Given the description of an element on the screen output the (x, y) to click on. 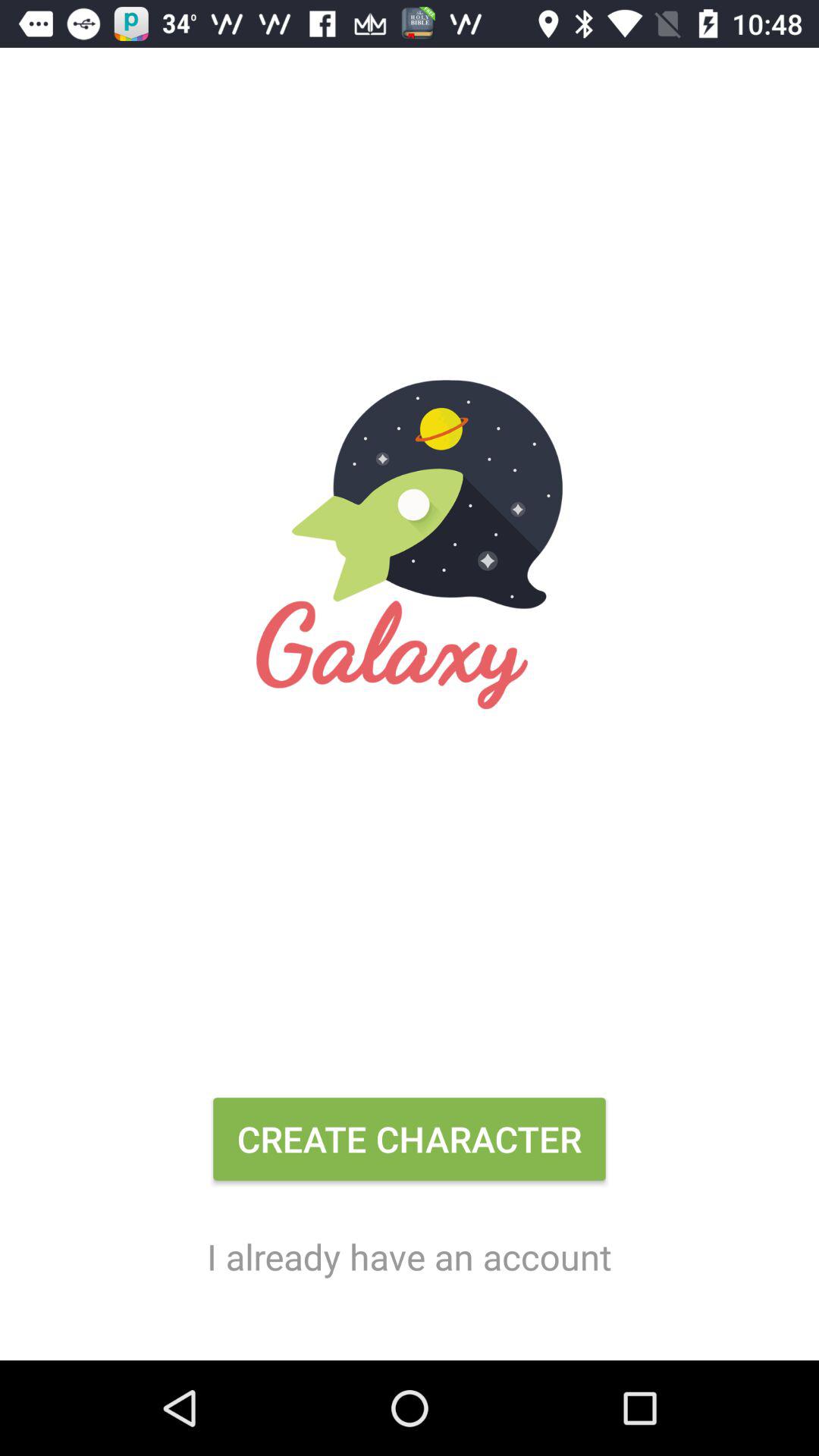
turn off create character (409, 1145)
